Given the description of an element on the screen output the (x, y) to click on. 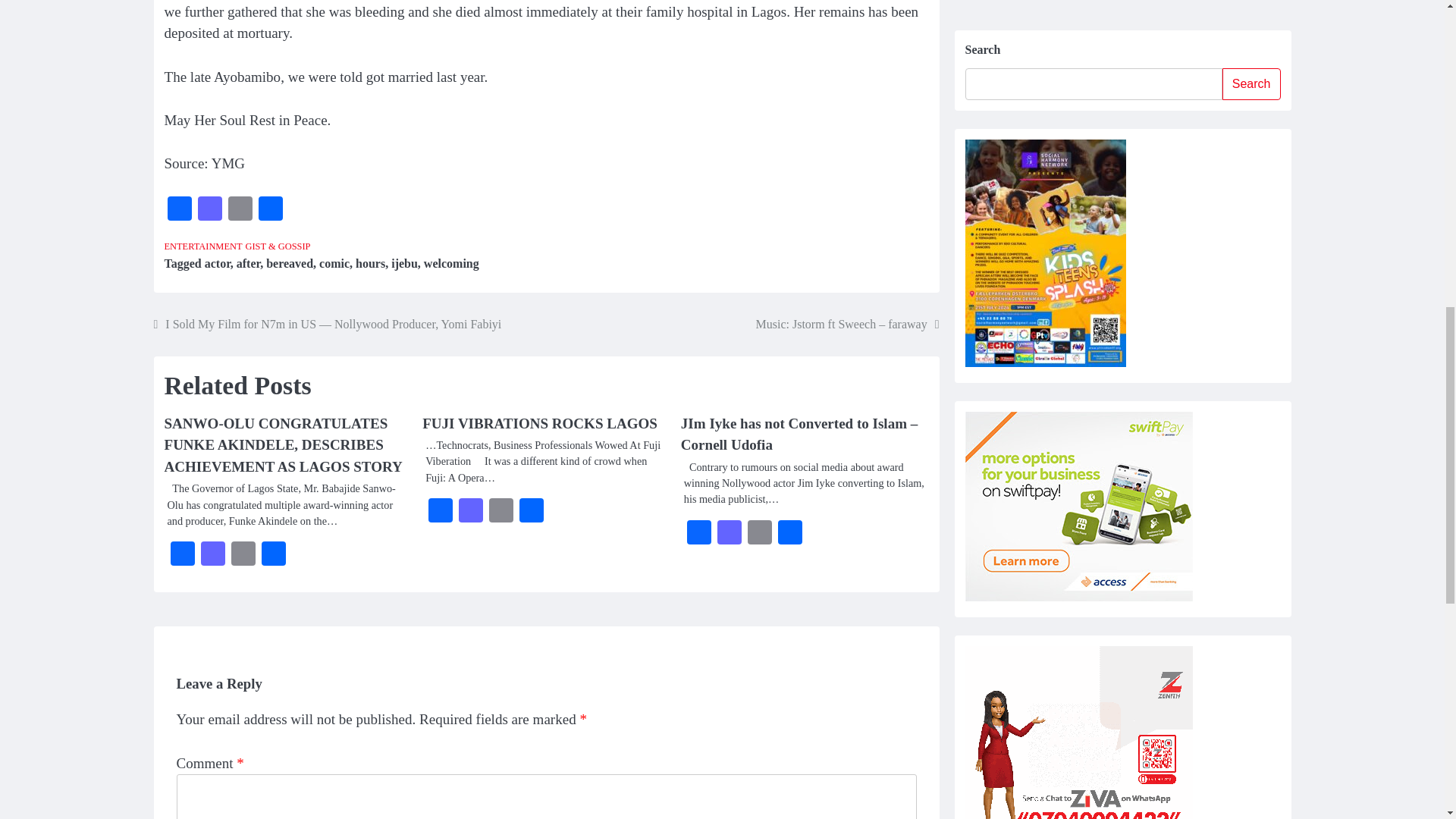
Mastodon (208, 210)
Mastodon (208, 210)
welcoming (451, 263)
Mastodon (470, 511)
Email (239, 210)
ijebu (404, 263)
actor (217, 263)
Mastodon (211, 555)
Email (239, 210)
Email (501, 511)
Facebook (440, 511)
Share (269, 210)
Facebook (181, 555)
comic (333, 263)
Facebook (699, 533)
